Given the description of an element on the screen output the (x, y) to click on. 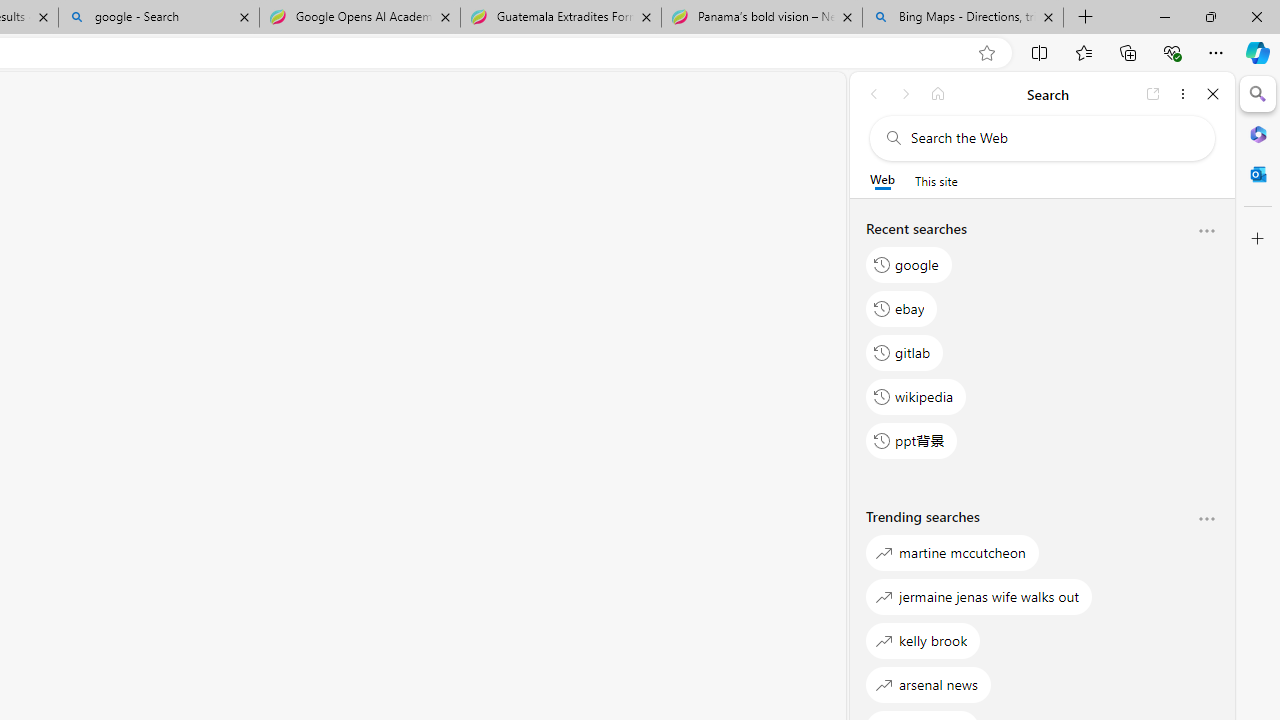
arsenal news (928, 684)
ebay (902, 308)
google (909, 264)
